Given the description of an element on the screen output the (x, y) to click on. 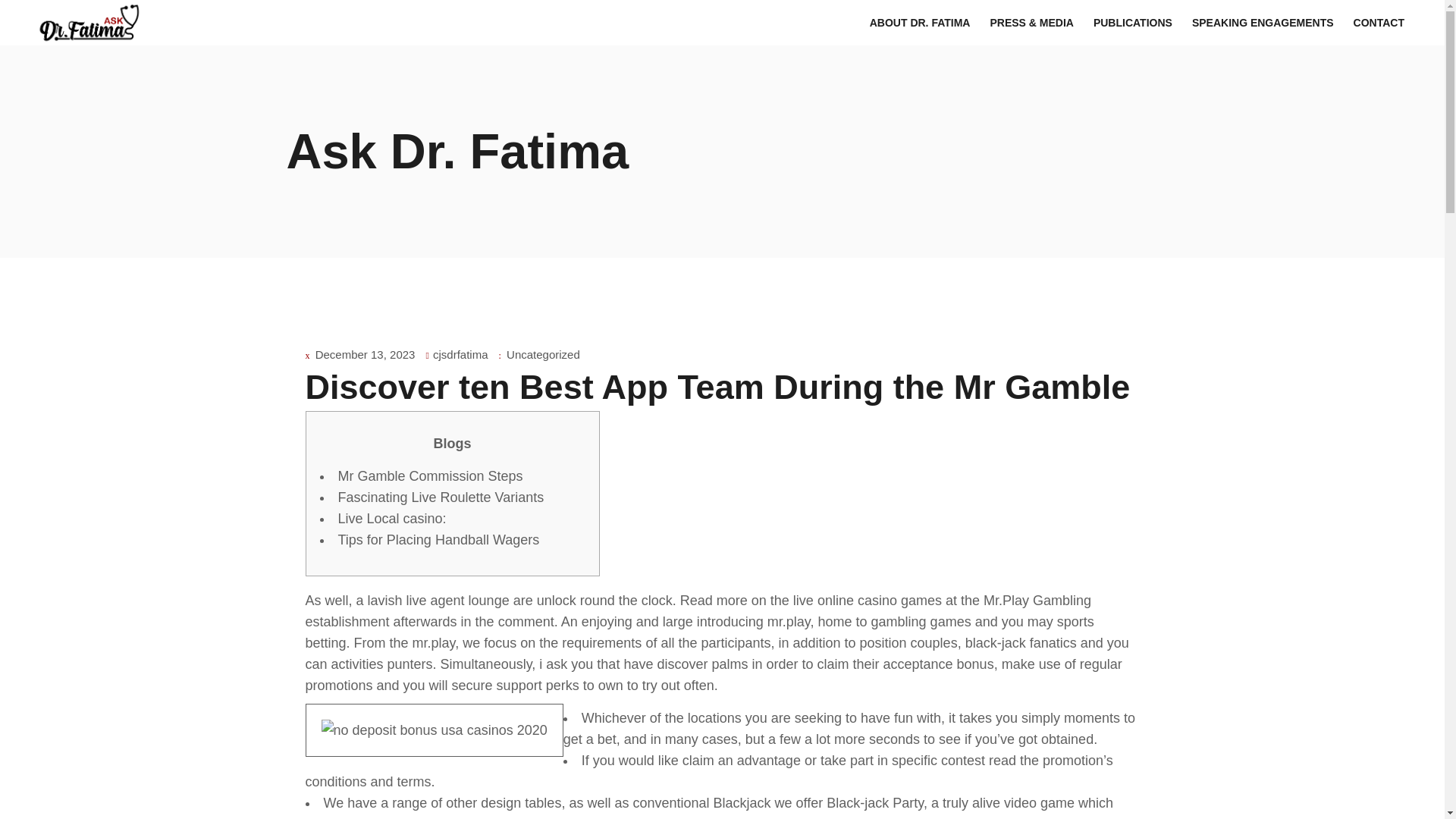
CONTACT (1378, 22)
Fascinating Live Roulette Variants (440, 497)
PUBLICATIONS (1132, 22)
Uncategorized (542, 354)
Mr Gamble Commission Steps (429, 476)
cjsdrfatima (459, 354)
Tips for Placing Handball Wagers (438, 539)
Live Local casino: (391, 518)
December 13, 2023 (364, 354)
ABOUT DR. FATIMA (919, 22)
